Given the description of an element on the screen output the (x, y) to click on. 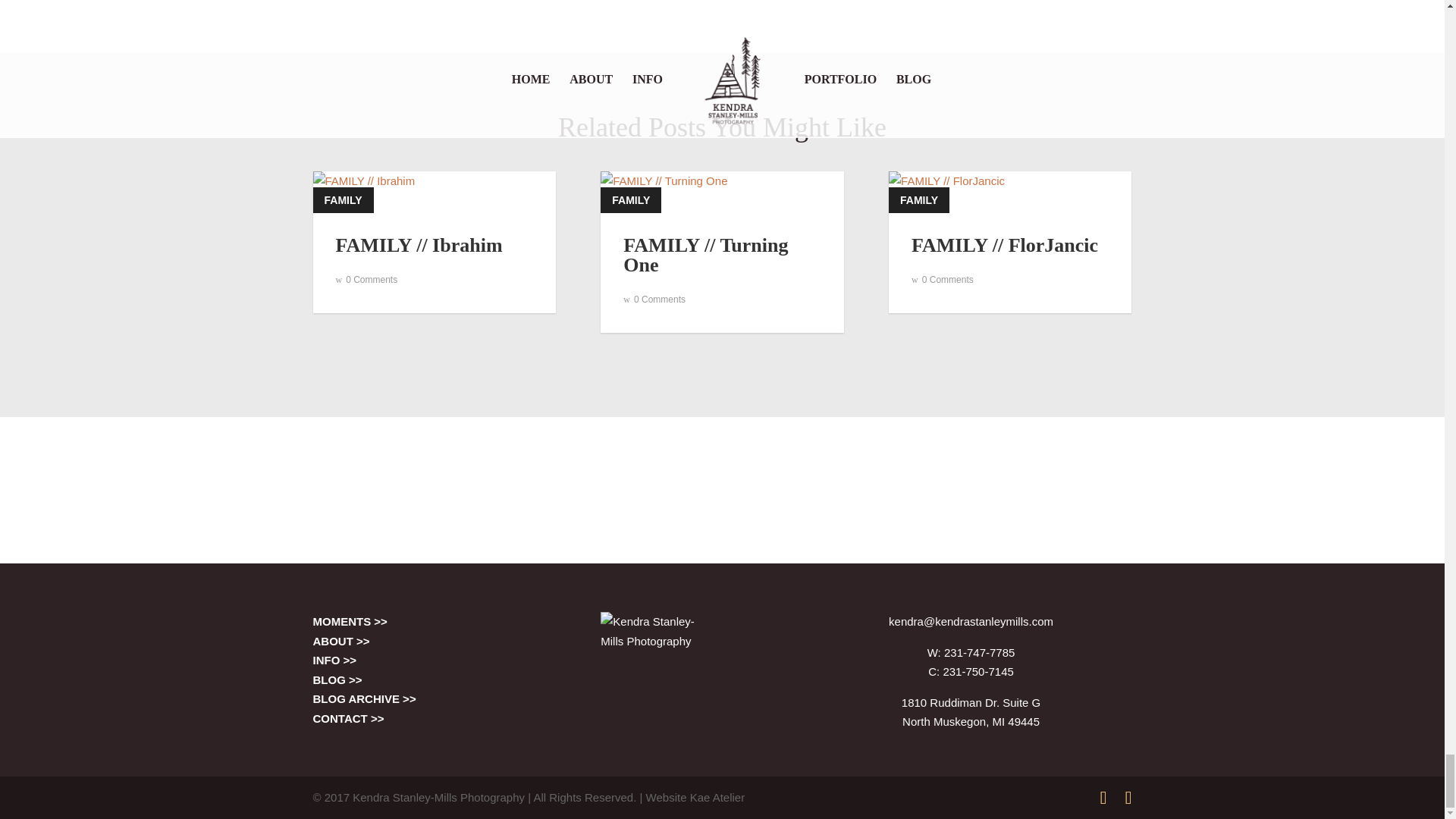
FAMILY (342, 199)
FAMILY (918, 199)
FAMILY (630, 199)
Kendra Stanley-Mills Photography (656, 668)
